Given the description of an element on the screen output the (x, y) to click on. 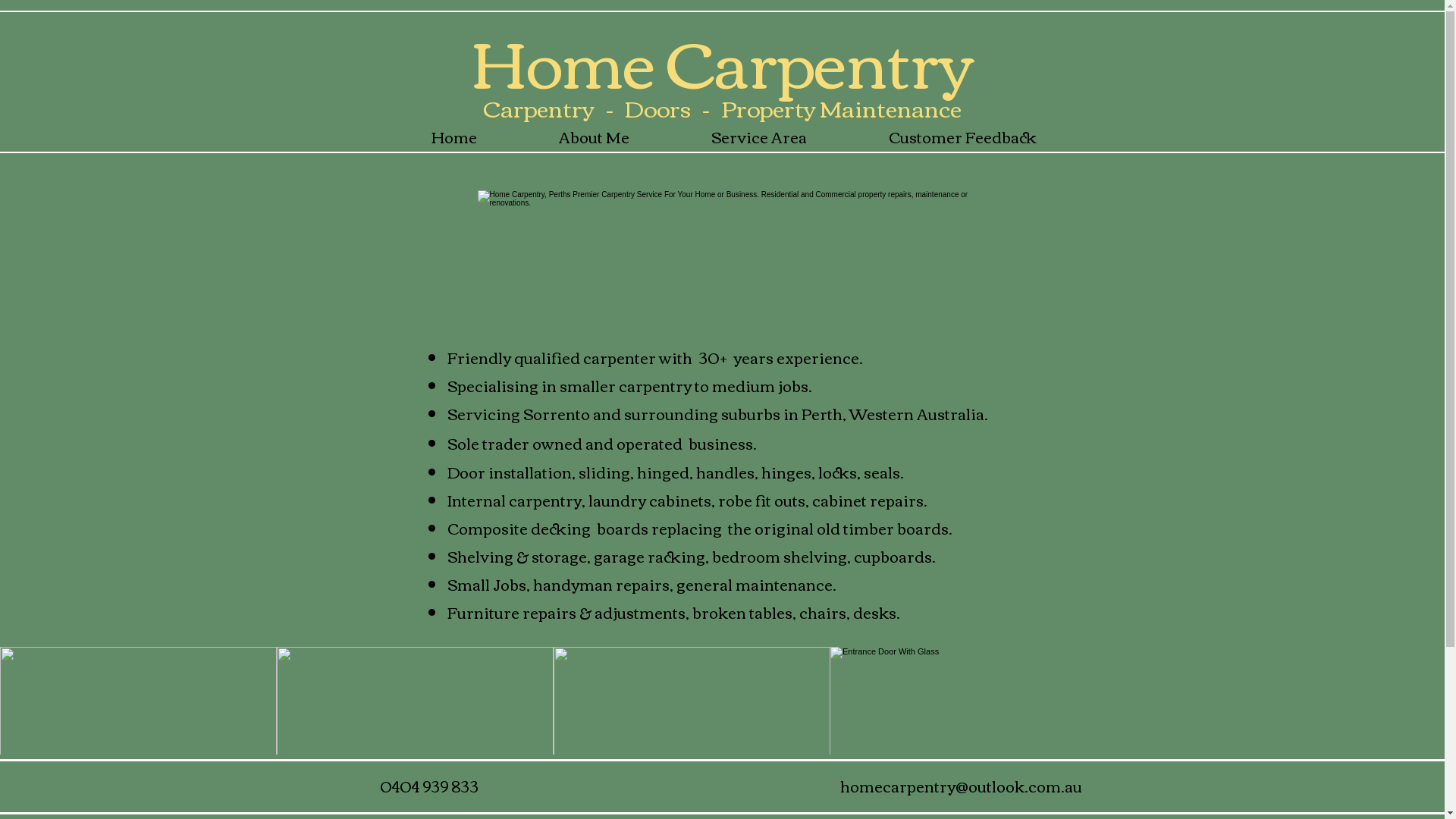
Service Area Element type: text (758, 135)
Home Carpentry Element type: text (721, 59)
About Me Element type: text (593, 135)
Home Element type: text (454, 135)
0404 939 833 Element type: text (428, 784)
Customer Feedback Element type: text (962, 135)
homecarpentry@outlook.com.au Element type: text (961, 784)
